Given the description of an element on the screen output the (x, y) to click on. 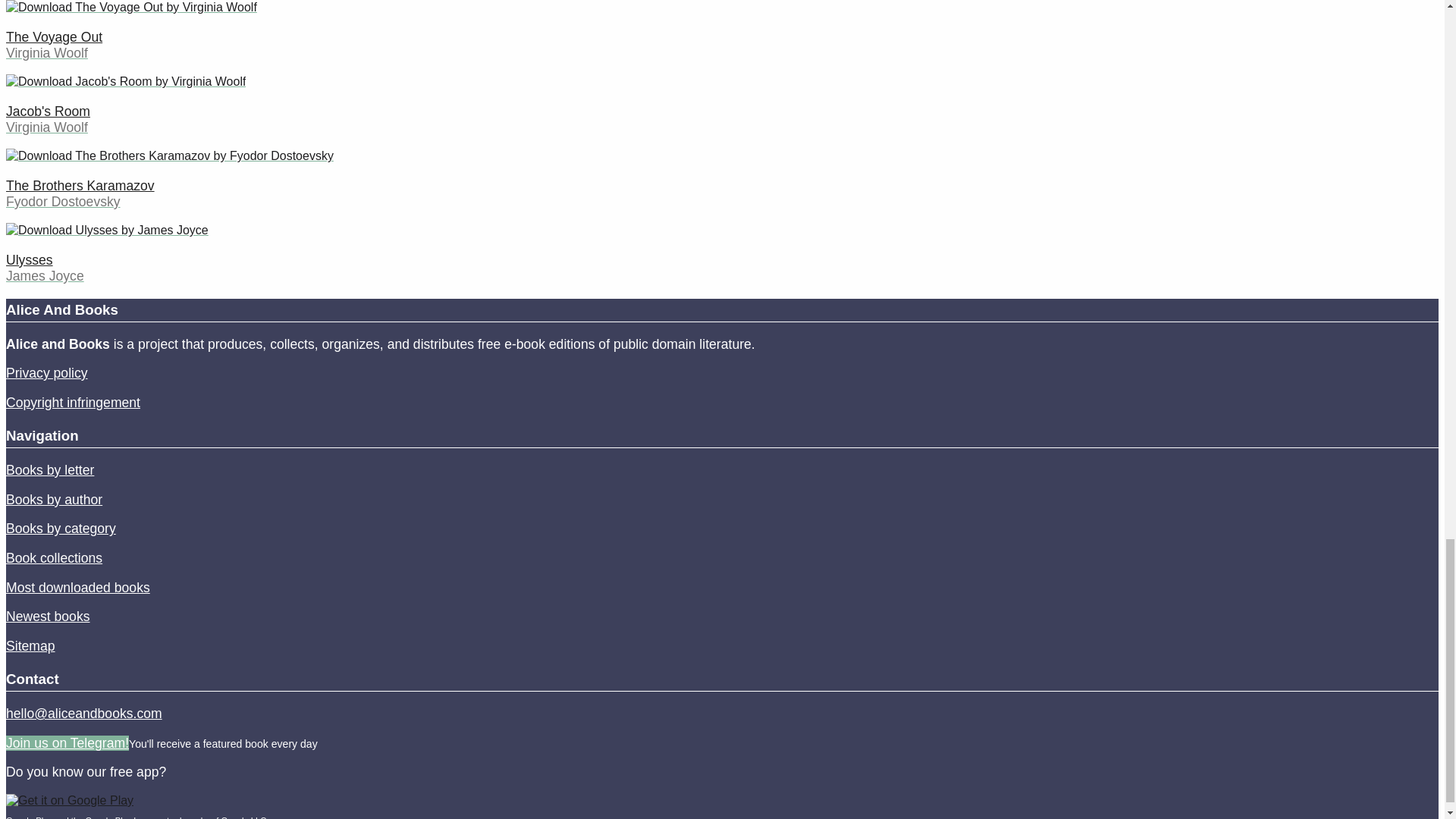
Download Jacob's Room by Virginia Woolf (125, 82)
Fyodor Dostoevsky (62, 201)
The Voyage Out (53, 36)
The Brothers Karamazov (79, 185)
Download The Voyage Out by Virginia Woolf (131, 7)
Download Ulysses by James Joyce (106, 230)
Ulysses (28, 259)
Newest books (47, 616)
Privacy policy (46, 372)
Virginia Woolf (46, 127)
Jacob's Room (47, 111)
Copyright infringement (72, 402)
Privacy policy (46, 372)
Most downloaded books (77, 586)
James Joyce (44, 275)
